Given the description of an element on the screen output the (x, y) to click on. 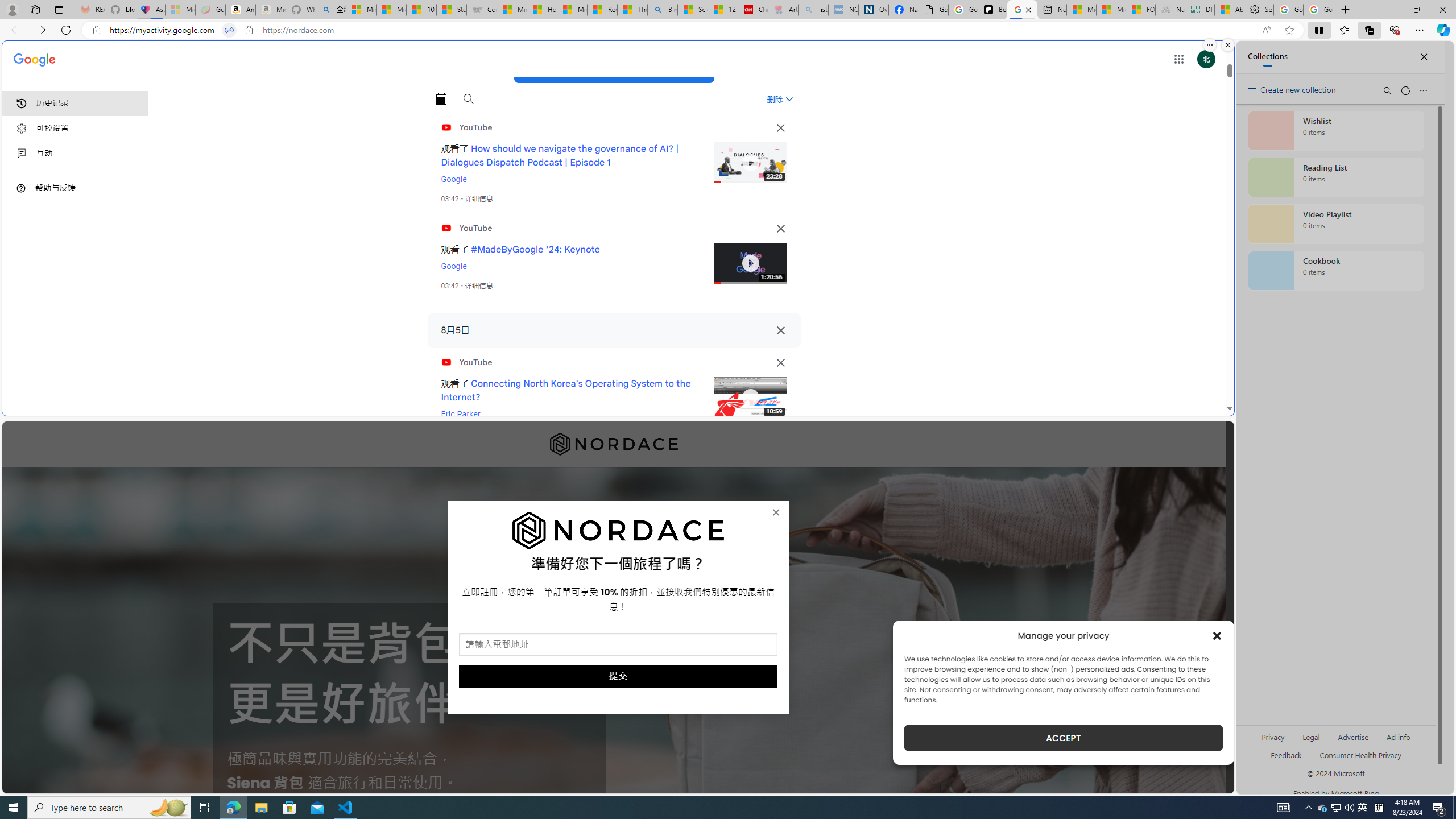
Class: TjcpUd NMm5M (780, 362)
Connecting North Korea's Operating System to the Internet? (566, 390)
Class: cmplz-close (1217, 635)
